Given the description of an element on the screen output the (x, y) to click on. 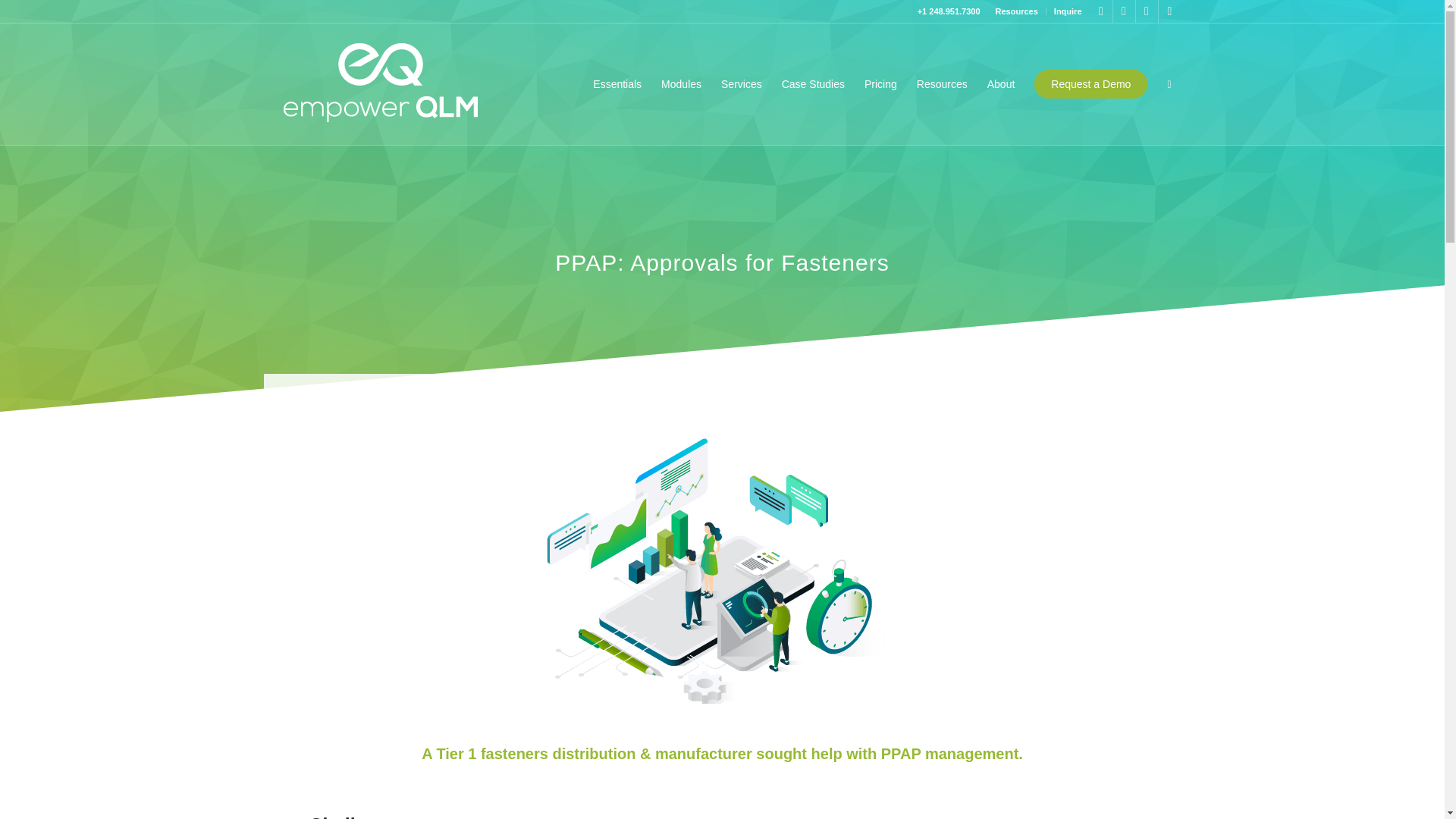
Resources (1016, 11)
Inquire (1067, 11)
